Given the description of an element on the screen output the (x, y) to click on. 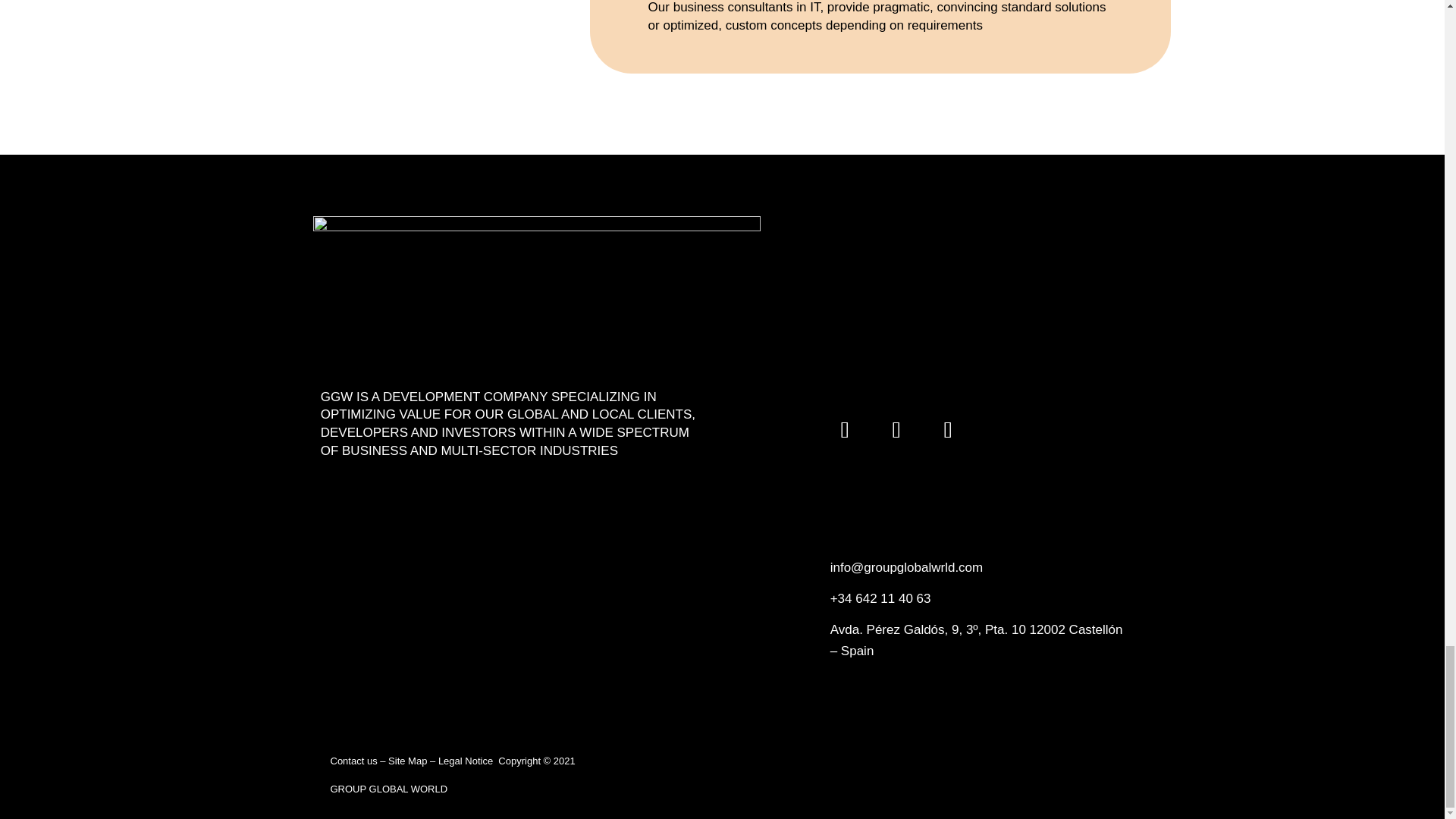
Contact us (355, 760)
Follow on X (844, 429)
Site Map (408, 760)
Follow on LinkedIn (947, 429)
Follow on skype (895, 429)
